Given the description of an element on the screen output the (x, y) to click on. 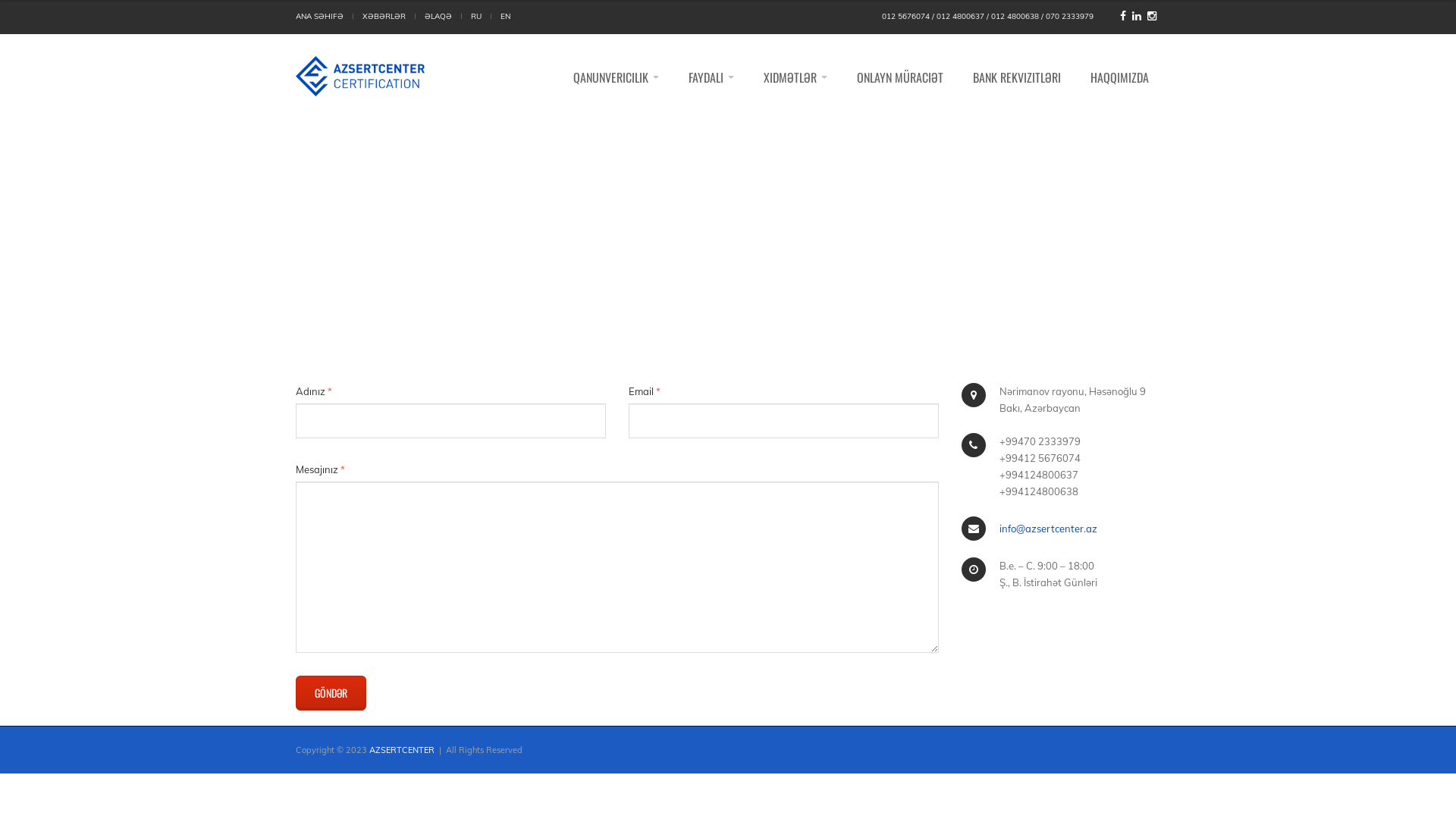
HAQQIMIZDA Element type: text (1119, 77)
012 5676074 / 012 4800637 / 012 4800638 / 070 2333979 Element type: text (987, 16)
QANUNVERICILIK Element type: text (615, 77)
FAYDALI Element type: text (711, 77)
EN Element type: text (505, 16)
AZSERTCENTER Element type: text (401, 749)
RU Element type: text (475, 16)
info@azsertcenter.az Element type: text (1048, 528)
